Given the description of an element on the screen output the (x, y) to click on. 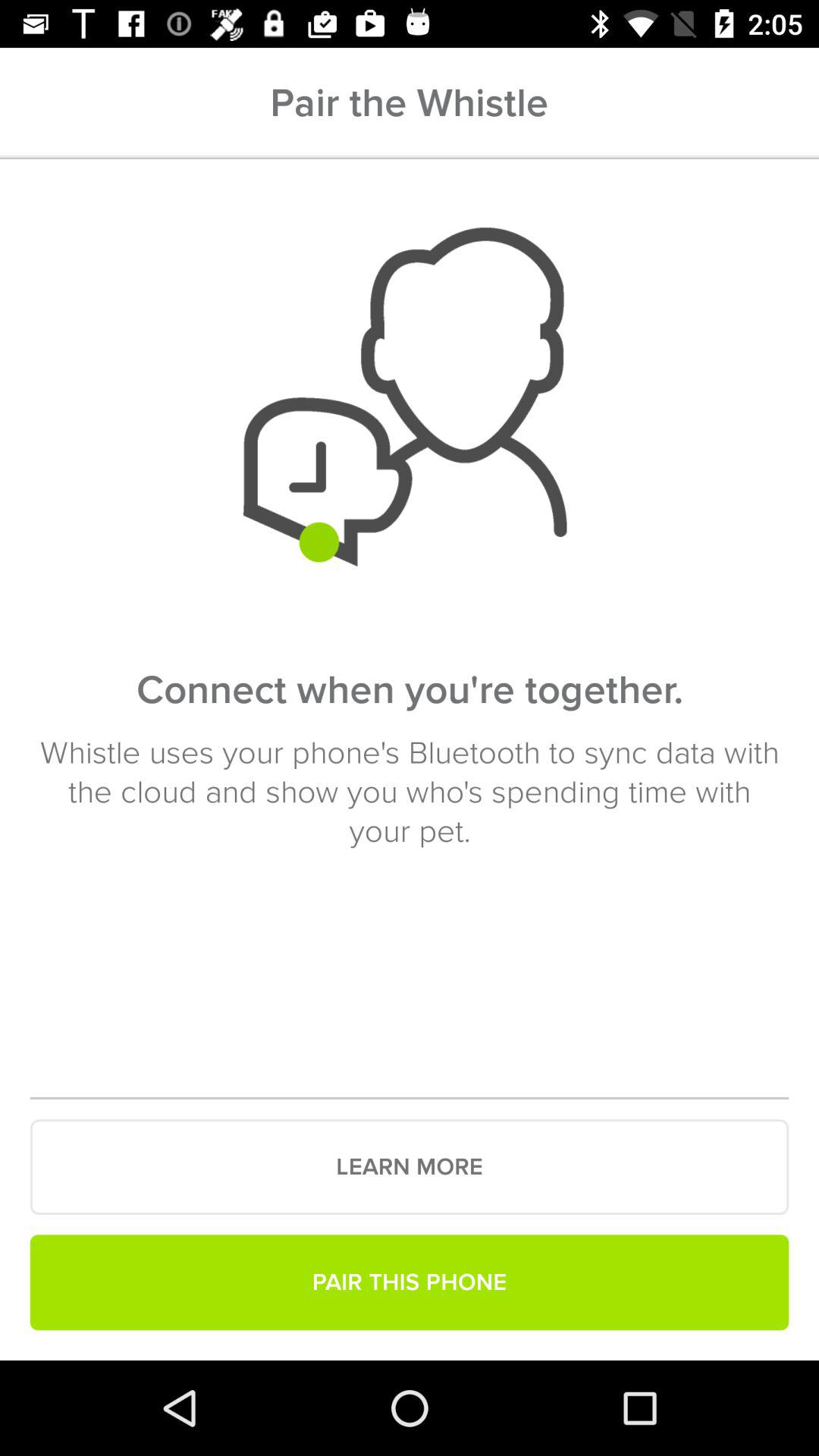
press pair this phone icon (409, 1282)
